Given the description of an element on the screen output the (x, y) to click on. 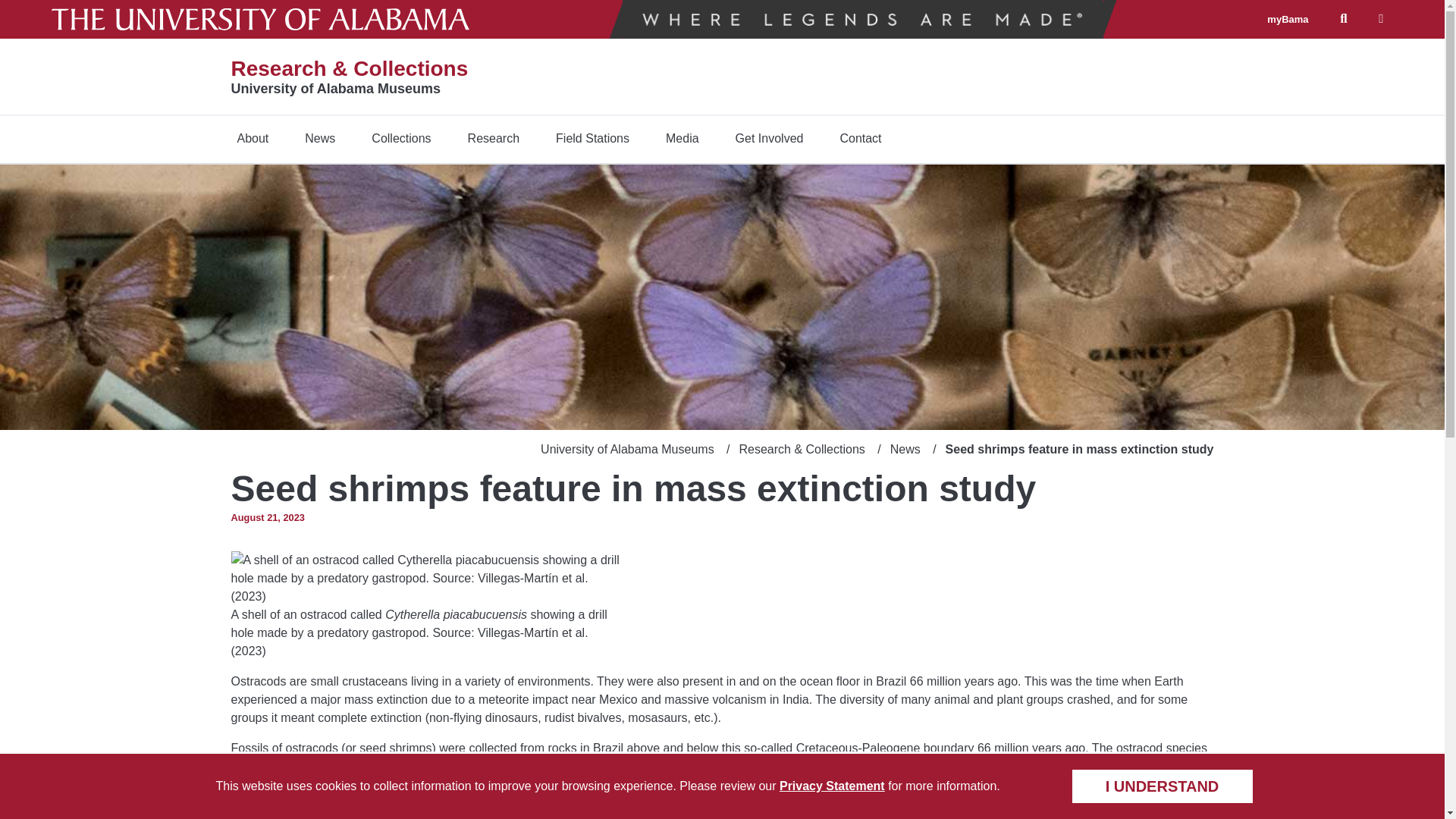
Research (493, 138)
About (252, 138)
Field Stations (592, 138)
News (319, 138)
Collections (400, 138)
Where Legends Are Made (862, 19)
Collections (400, 138)
Research (493, 138)
About (252, 138)
myBama (1287, 19)
News (319, 138)
Field Stations (592, 138)
University of Alabama Museums (334, 88)
The University of Alabama (260, 19)
